Given the description of an element on the screen output the (x, y) to click on. 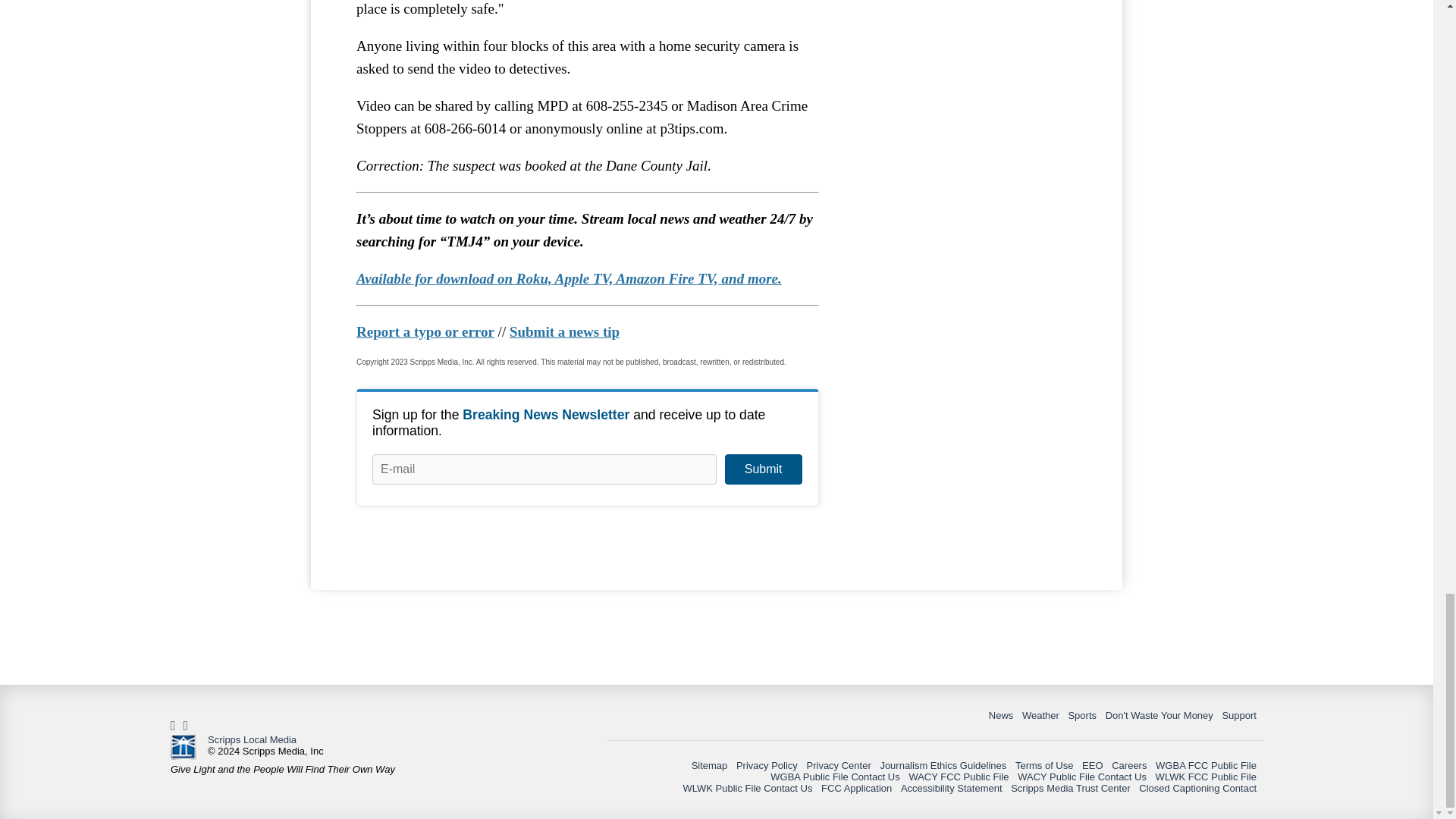
Submit (763, 469)
